Given the description of an element on the screen output the (x, y) to click on. 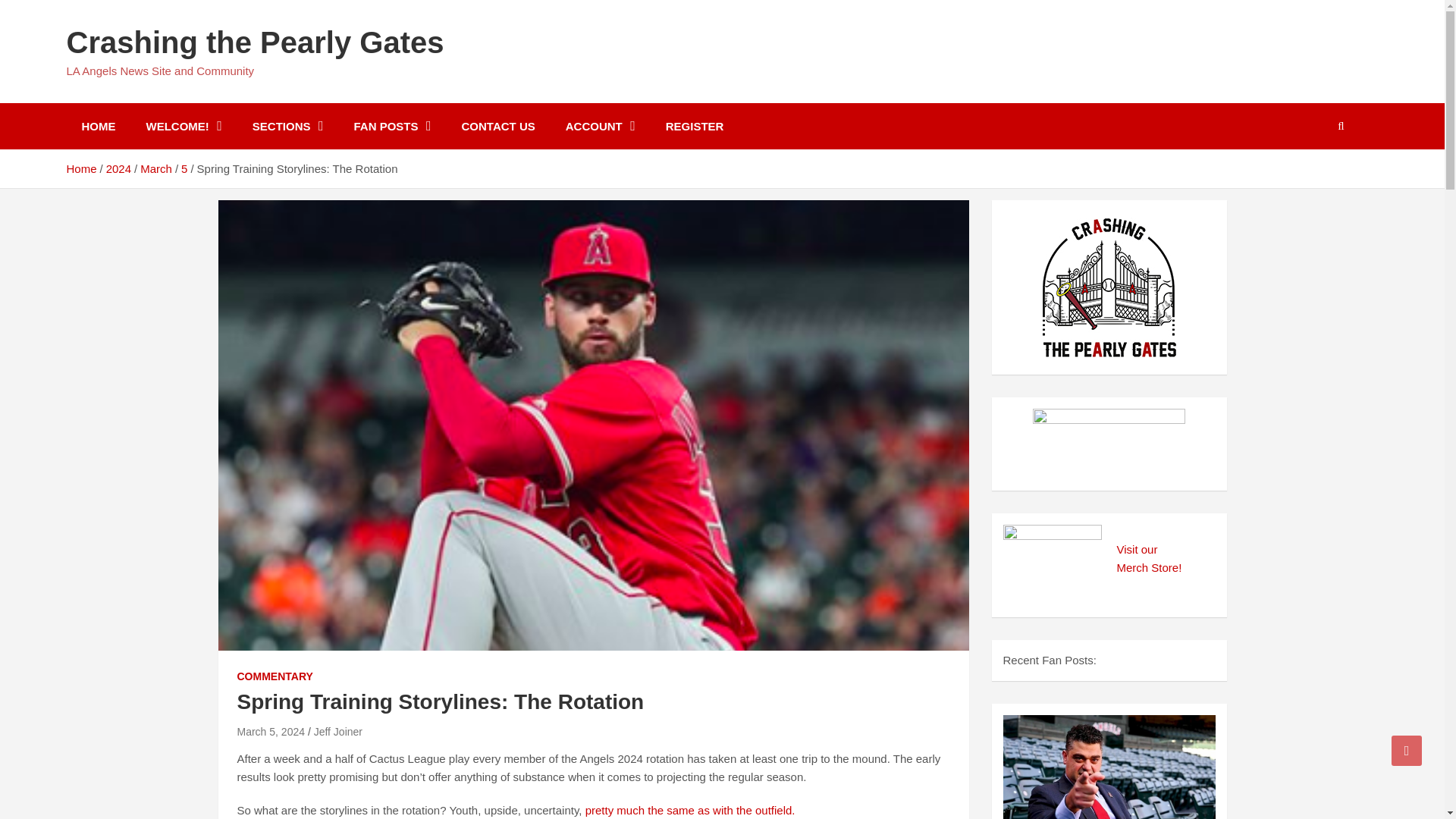
Crashing the Pearly Gates (255, 41)
WELCOME! (183, 126)
SECTIONS (288, 126)
Jeff Joiner (338, 731)
REGISTER (694, 126)
HOME (98, 126)
CONTACT US (498, 126)
Home (81, 168)
March (155, 168)
Spring Training Storylines: The Rotation (269, 731)
